Given the description of an element on the screen output the (x, y) to click on. 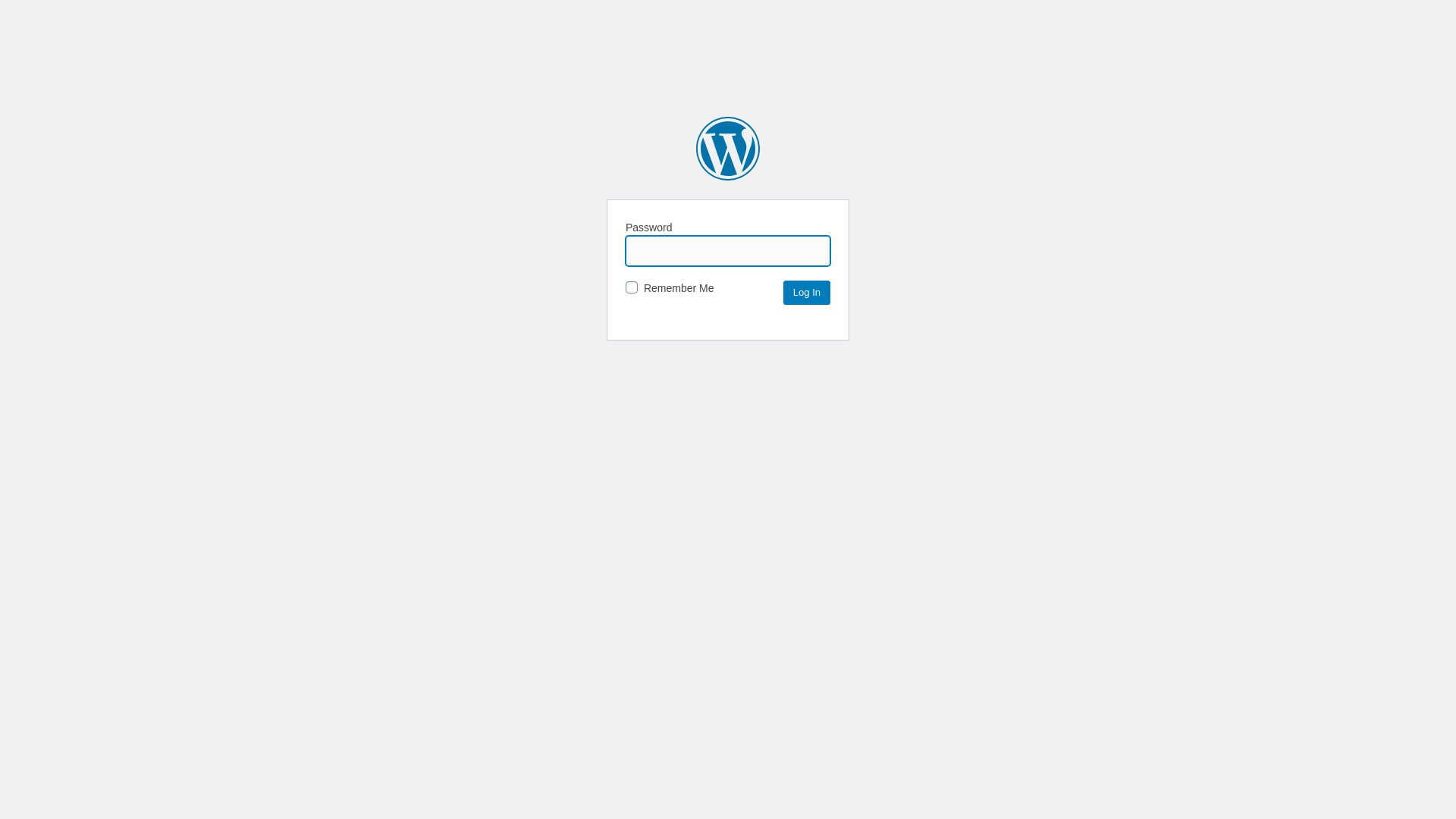
Log In Element type: text (806, 292)
